Given the description of an element on the screen output the (x, y) to click on. 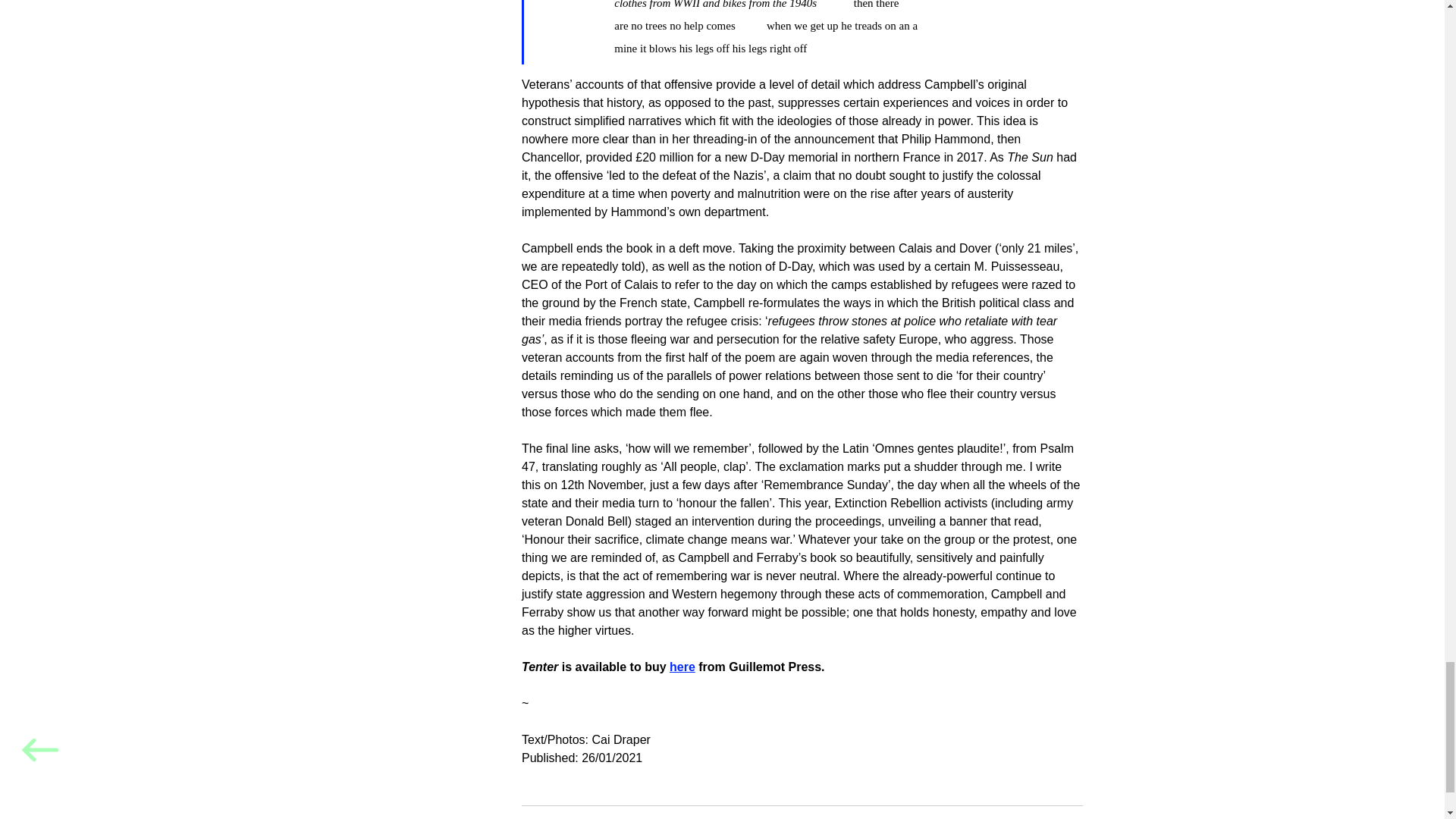
here (682, 666)
